Given the description of an element on the screen output the (x, y) to click on. 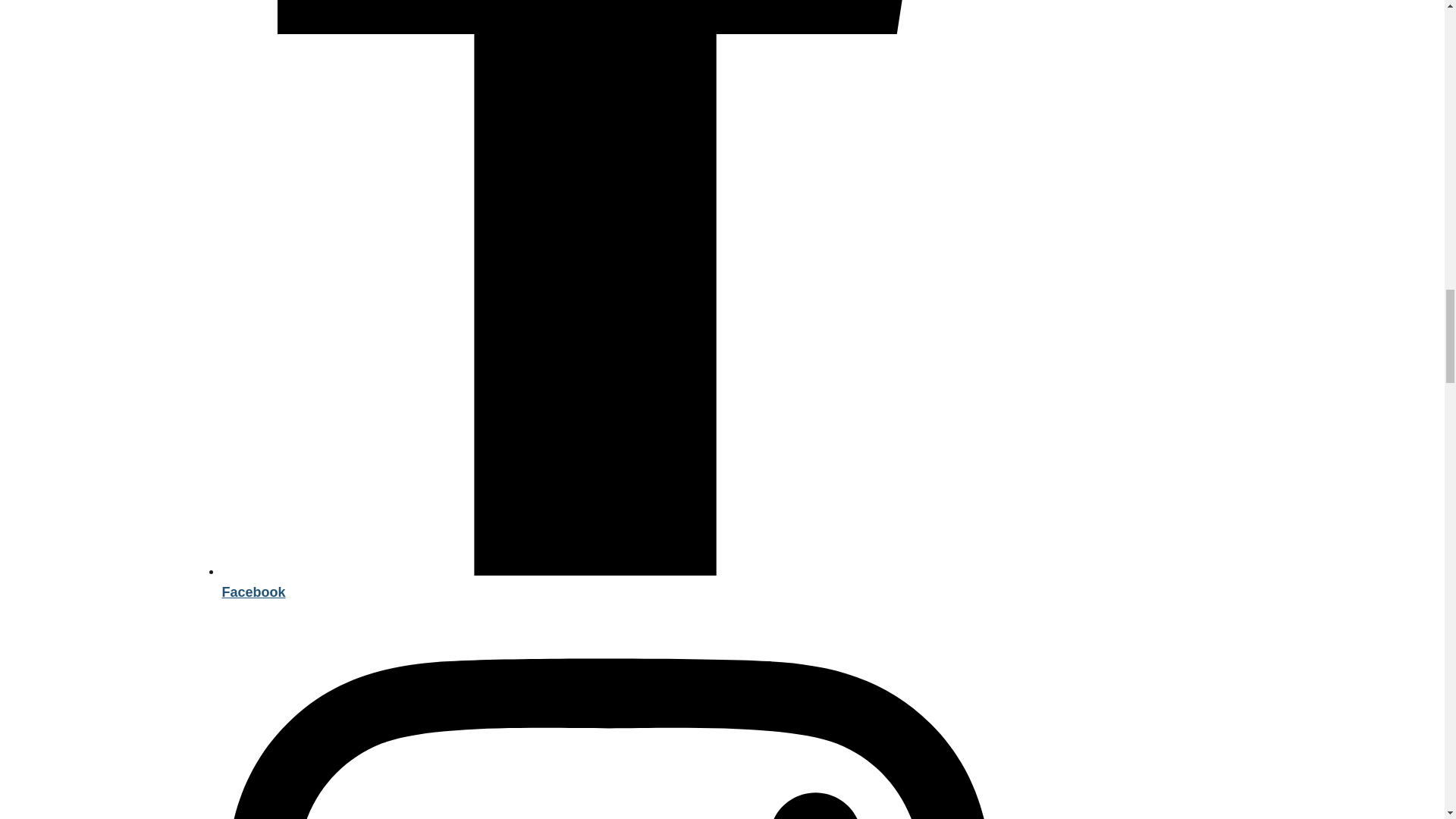
Facebook (607, 581)
